Given the description of an element on the screen output the (x, y) to click on. 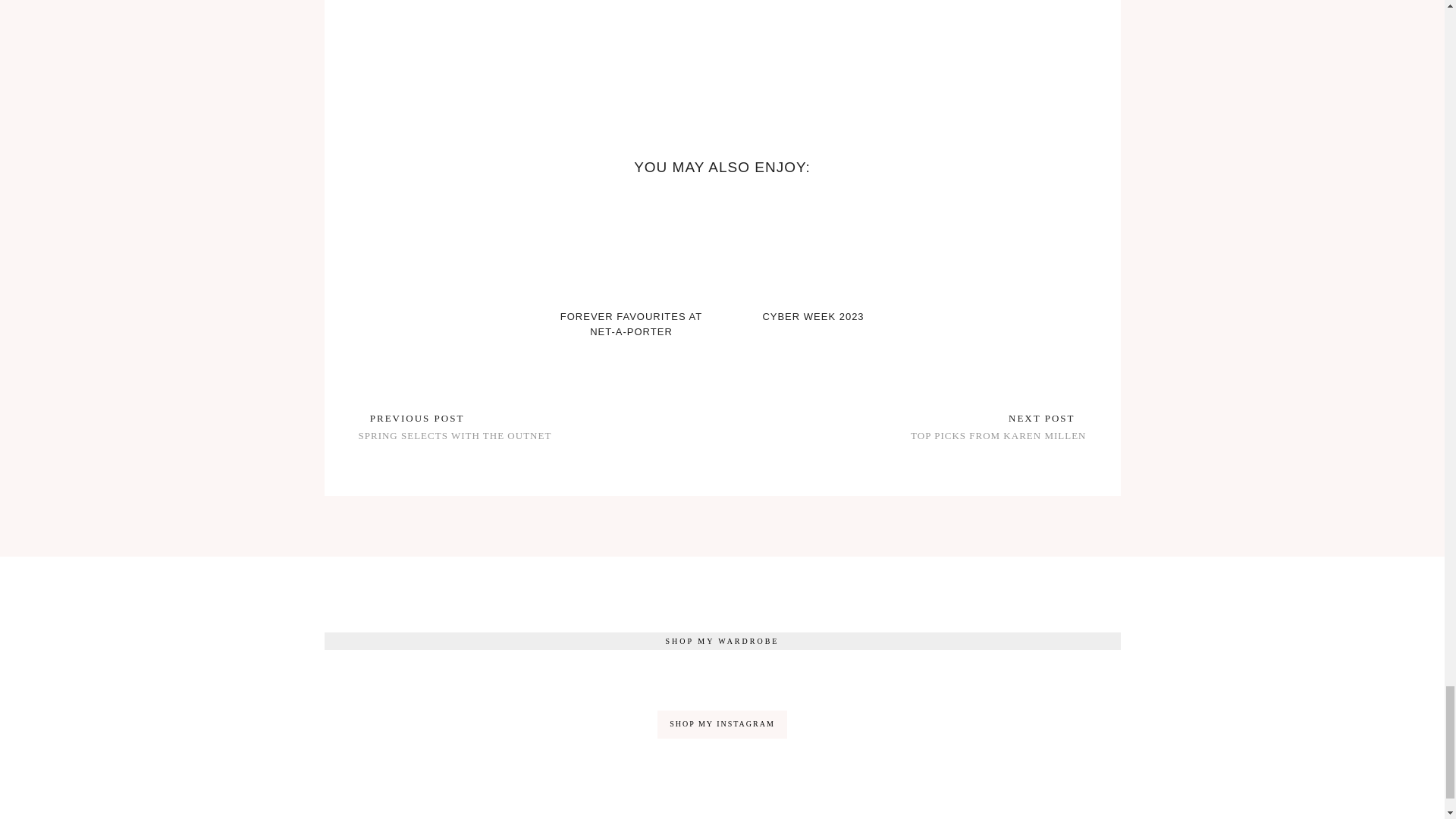
CYBER WEEK 2023 (812, 316)
CYBER WEEK 2023 (812, 245)
Forever Favourites at NET-A-PORTER (630, 245)
Forever Favourites at NET-A-PORTER (630, 324)
